Given the description of an element on the screen output the (x, y) to click on. 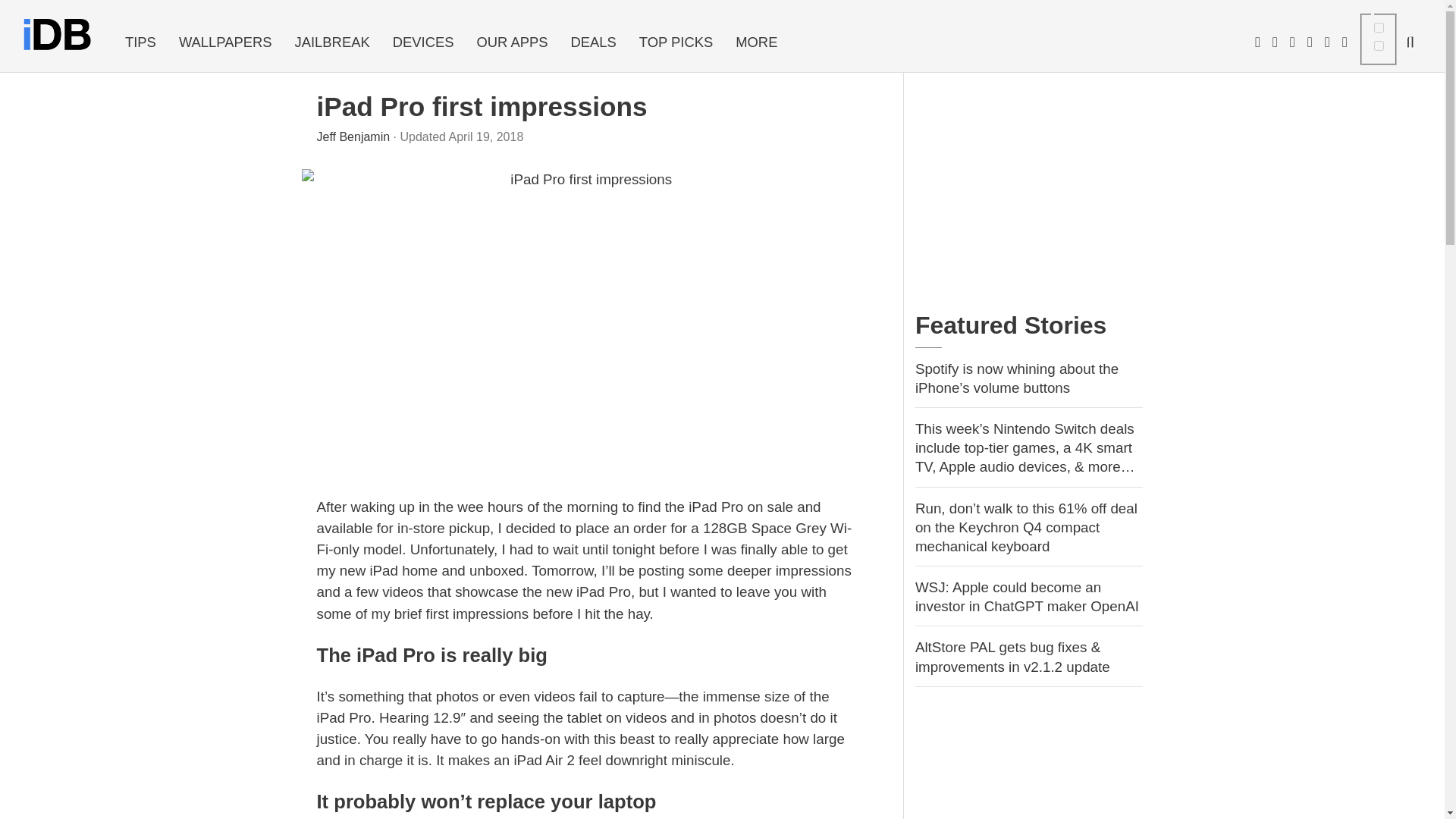
TIPS (140, 42)
DEVICES (423, 42)
JAILBREAK (332, 42)
Wallpapers (225, 42)
Tips (140, 42)
WALLPAPERS (225, 42)
OUR APPS (511, 42)
